Given the description of an element on the screen output the (x, y) to click on. 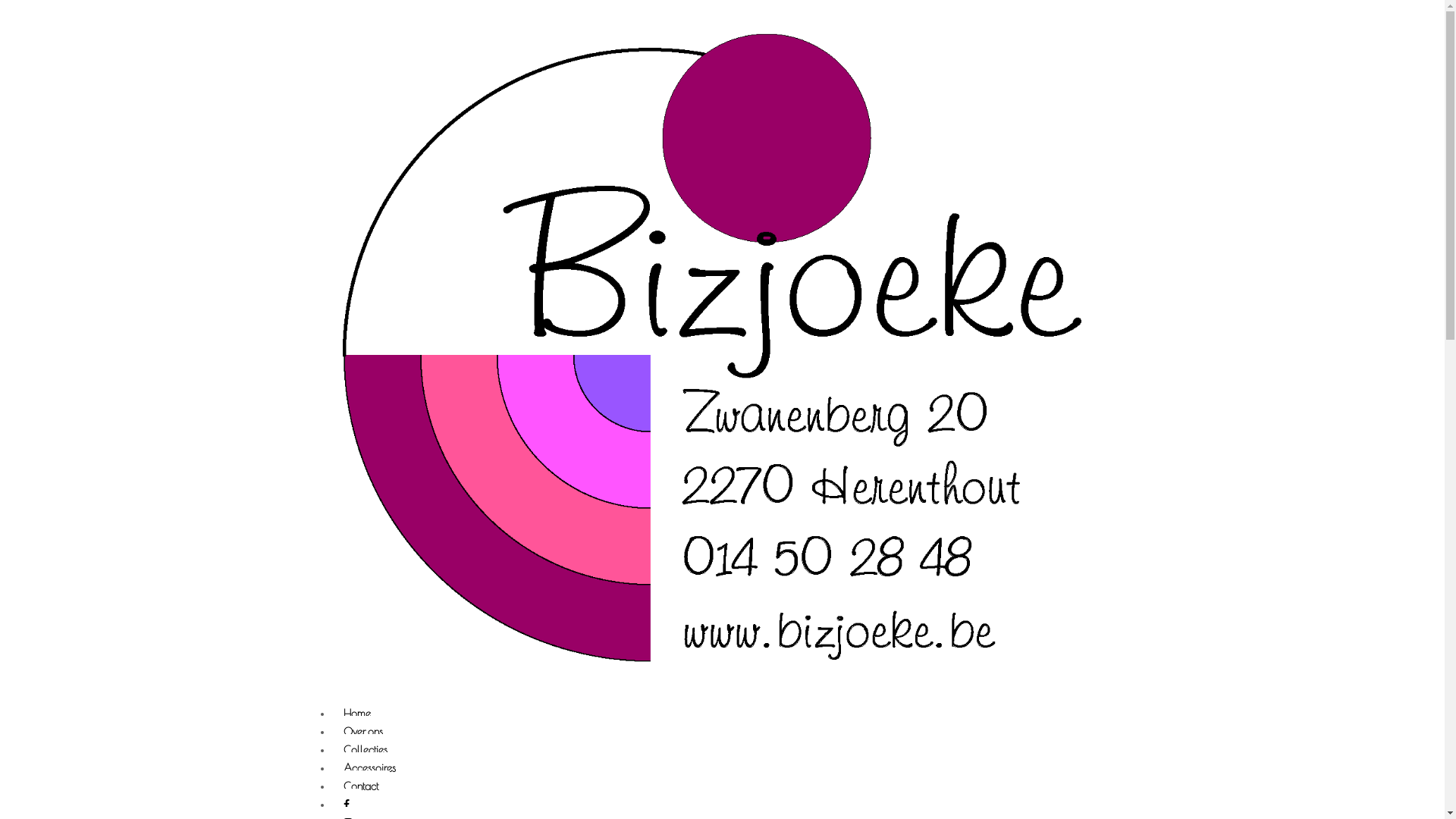
Accessoires Element type: text (369, 769)
Collecties Element type: text (365, 751)
Contact Element type: text (360, 787)
Home Element type: text (357, 714)
Over ons Element type: text (363, 732)
